Given the description of an element on the screen output the (x, y) to click on. 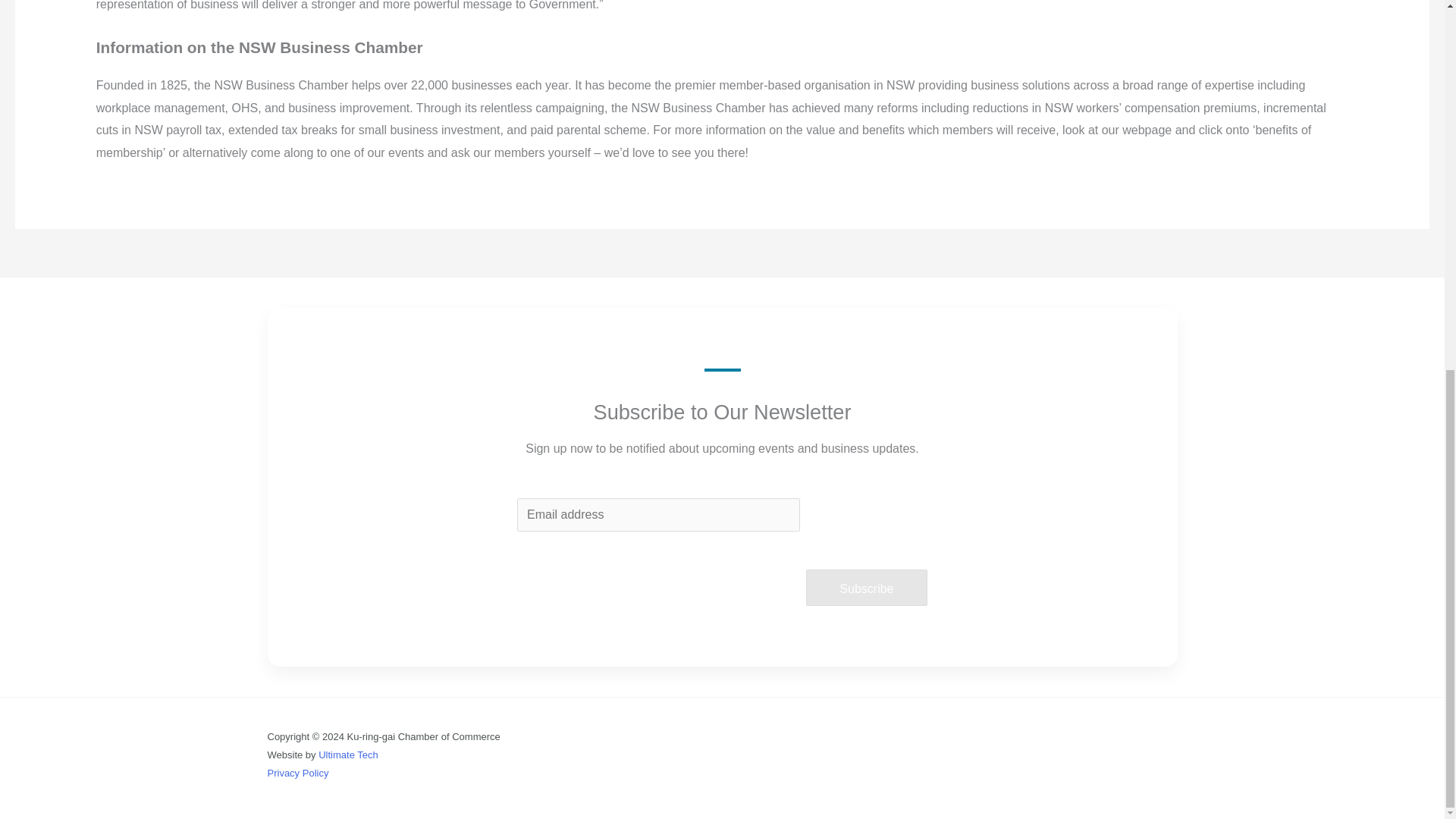
Ultimate Tech (348, 754)
Subscribe (866, 587)
Privacy Policy (297, 772)
